Given the description of an element on the screen output the (x, y) to click on. 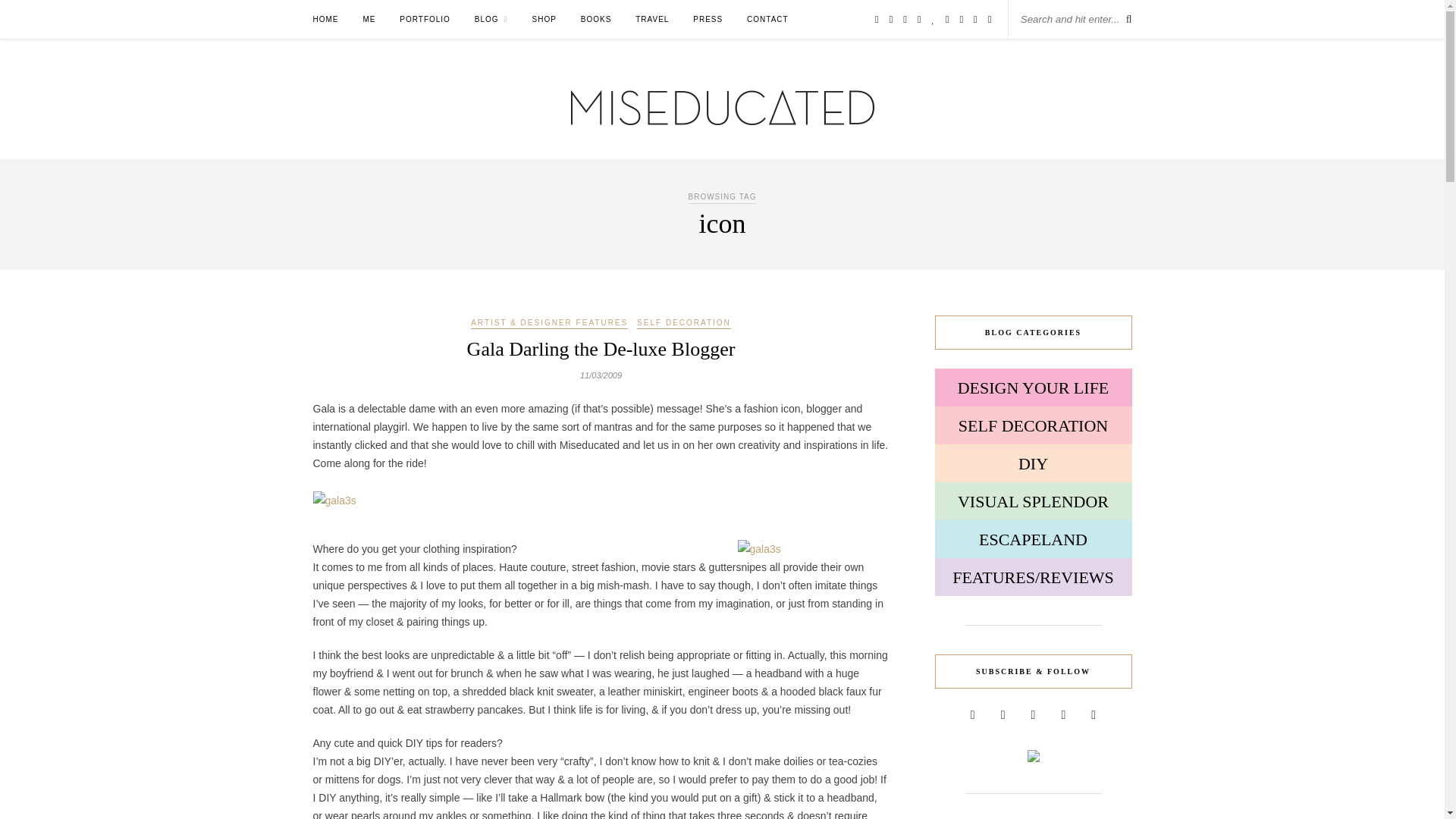
PORTFOLIO (423, 19)
CONTACT (767, 19)
View all posts in Self Decoration (683, 323)
gala3s (334, 500)
gala3s (812, 548)
